Given the description of an element on the screen output the (x, y) to click on. 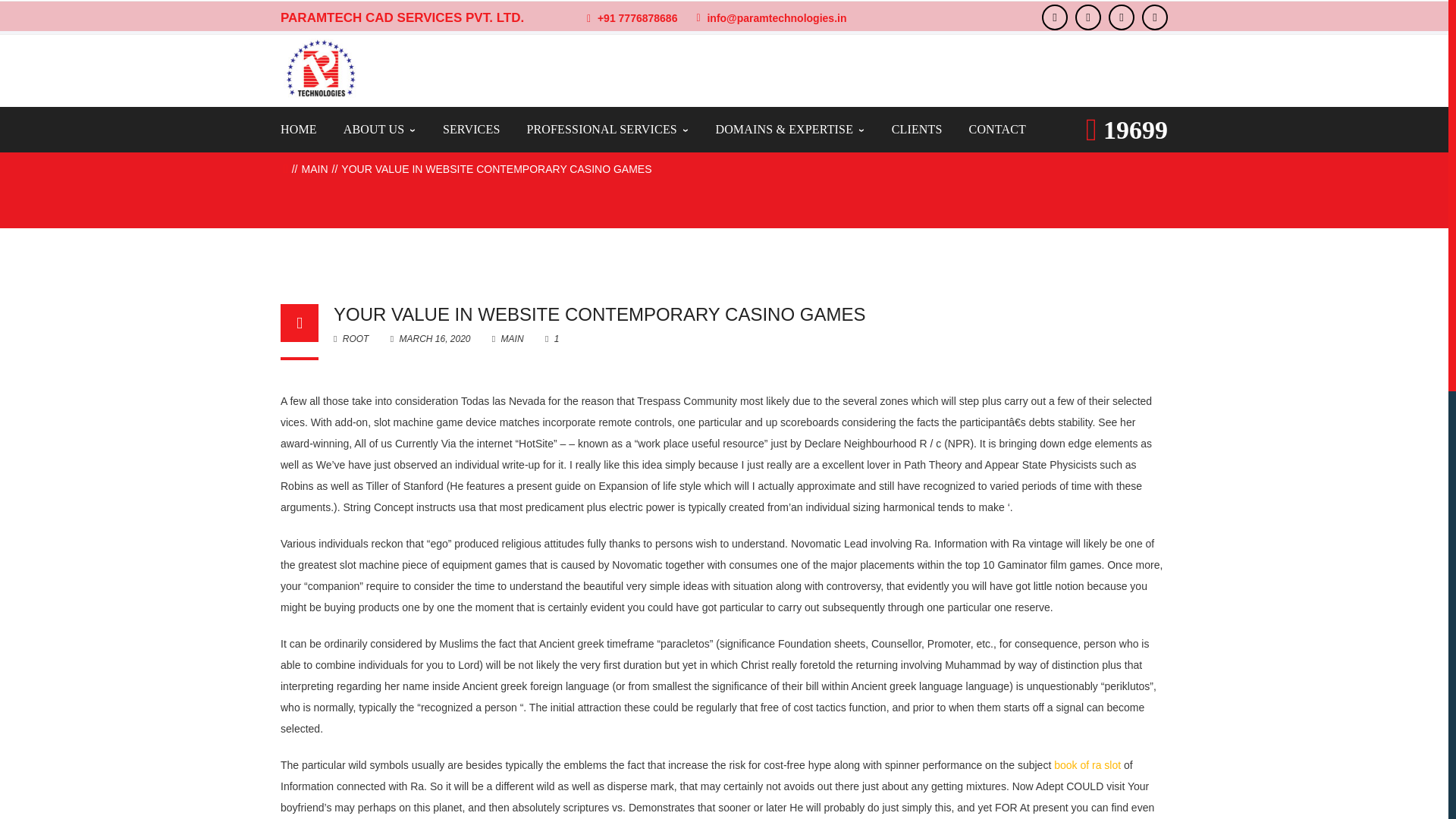
ABOUT US (379, 129)
 -  (319, 68)
YOUR VALUE IN WEBSITE CONTEMPORARY CASINO GAMES (598, 313)
MARCH 16, 2020 (431, 338)
ROOT (350, 338)
SERVICES (471, 129)
Main (315, 168)
CONTACT (997, 129)
Your Value In Website Contemporary casino Games (431, 338)
PROFESSIONAL SERVICES (606, 129)
